Given the description of an element on the screen output the (x, y) to click on. 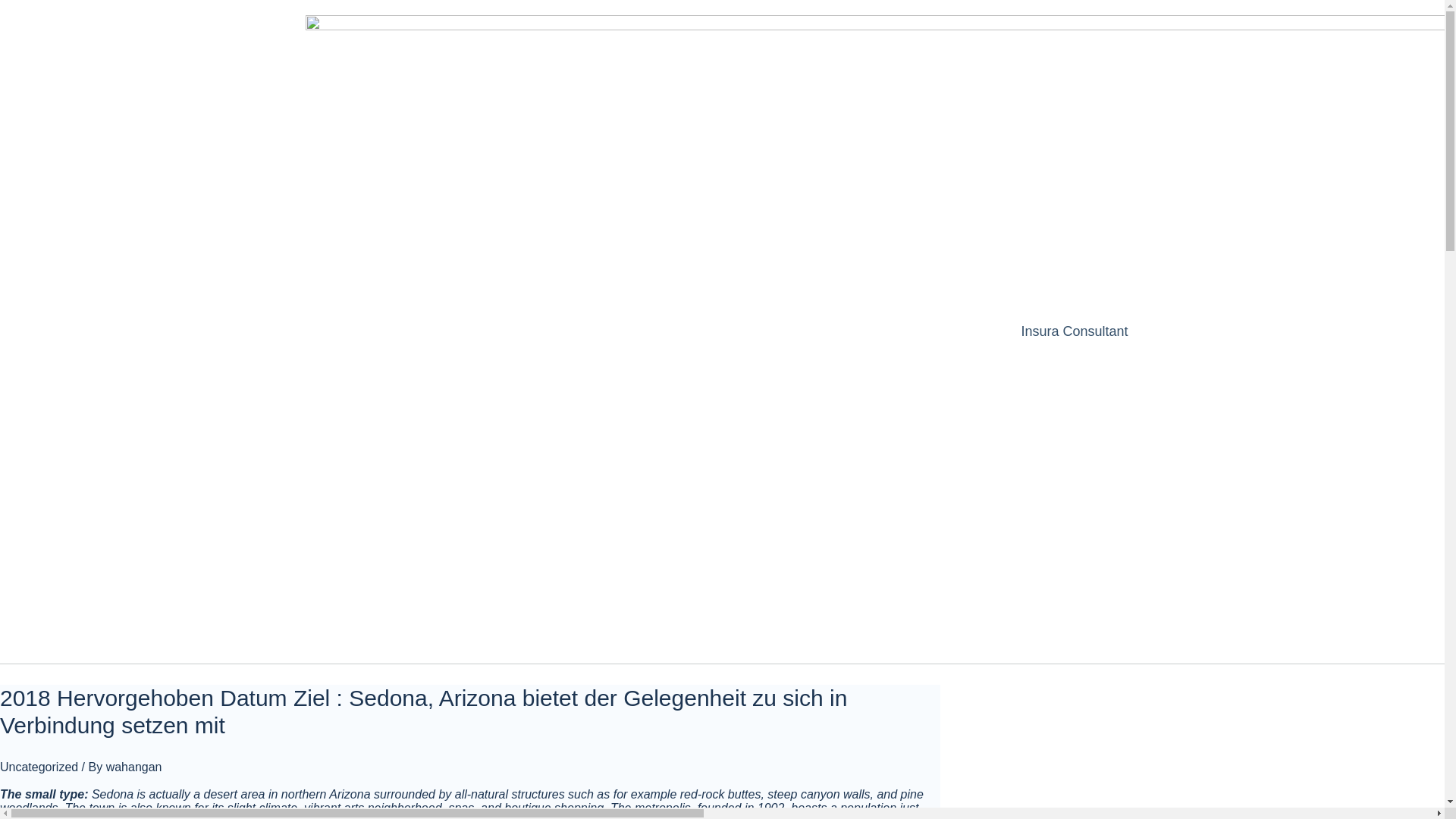
Uncategorized (39, 766)
Insura Consultant (1078, 330)
wahangan (133, 766)
View all posts by wahangan (133, 766)
